Given the description of an element on the screen output the (x, y) to click on. 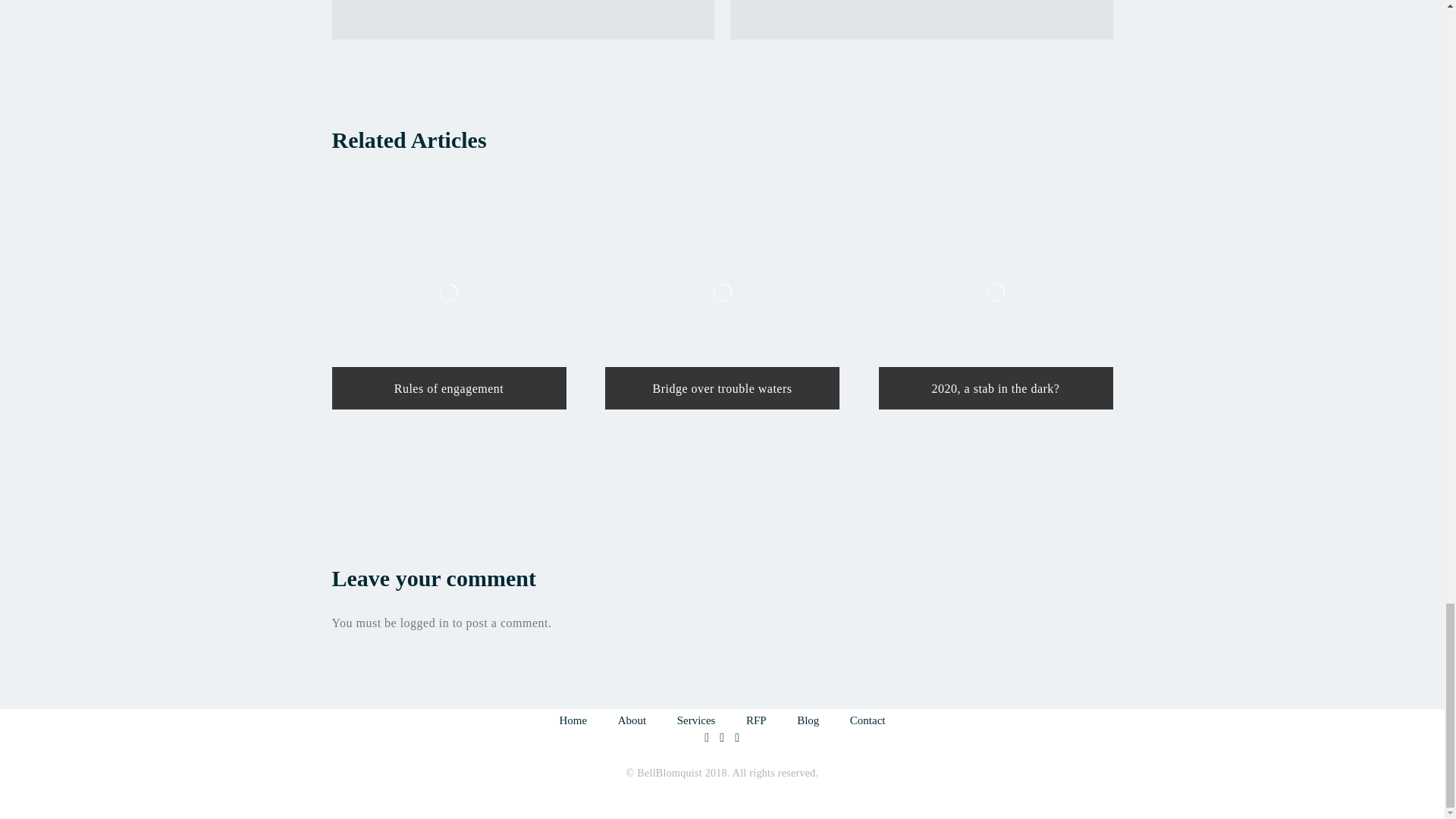
Rules of engagement (448, 292)
Bridge over trouble waters (722, 292)
2020, a stab in the dark? (994, 292)
